Given the description of an element on the screen output the (x, y) to click on. 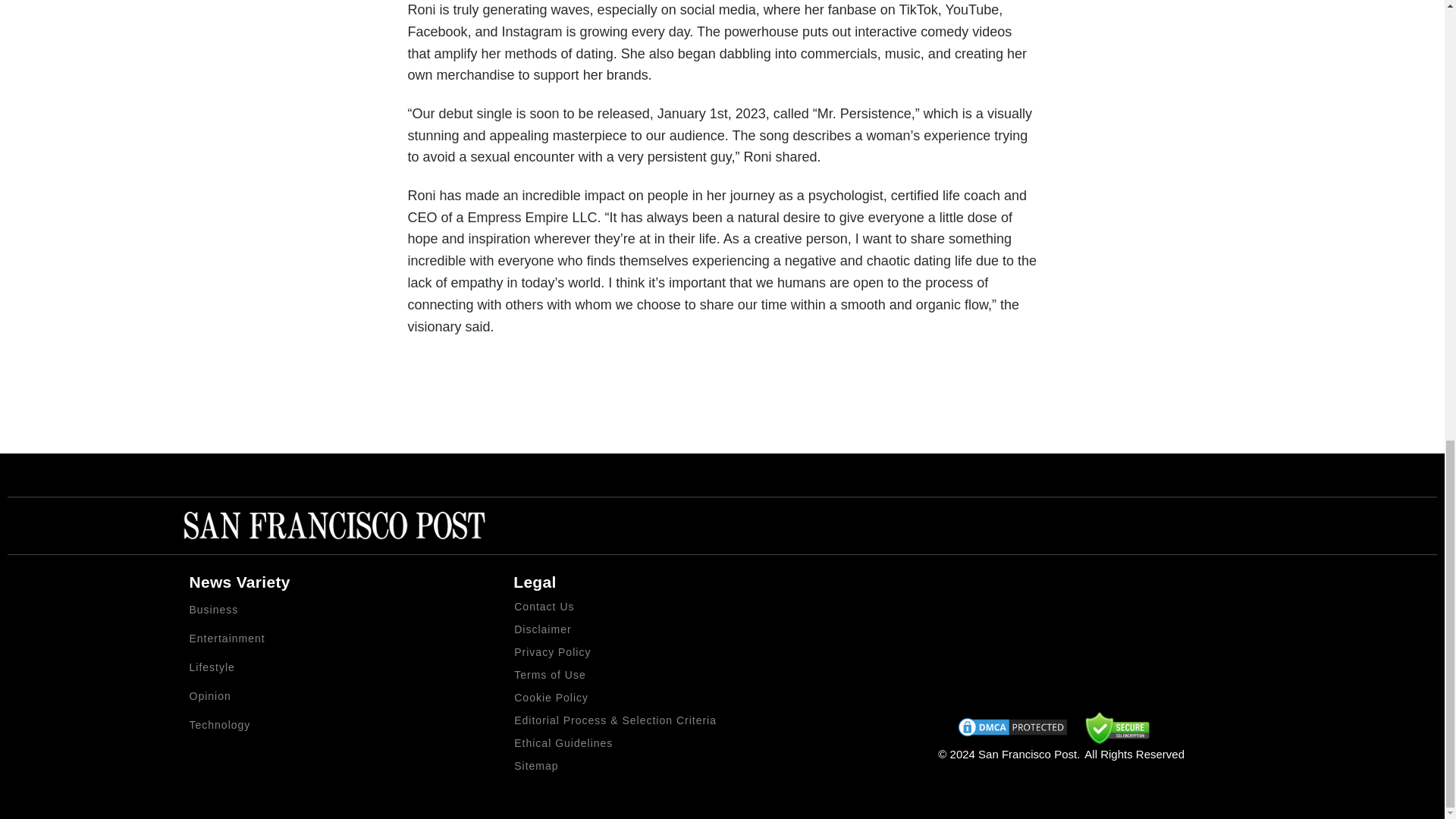
DMCA.com Protection Status (1012, 730)
